Given the description of an element on the screen output the (x, y) to click on. 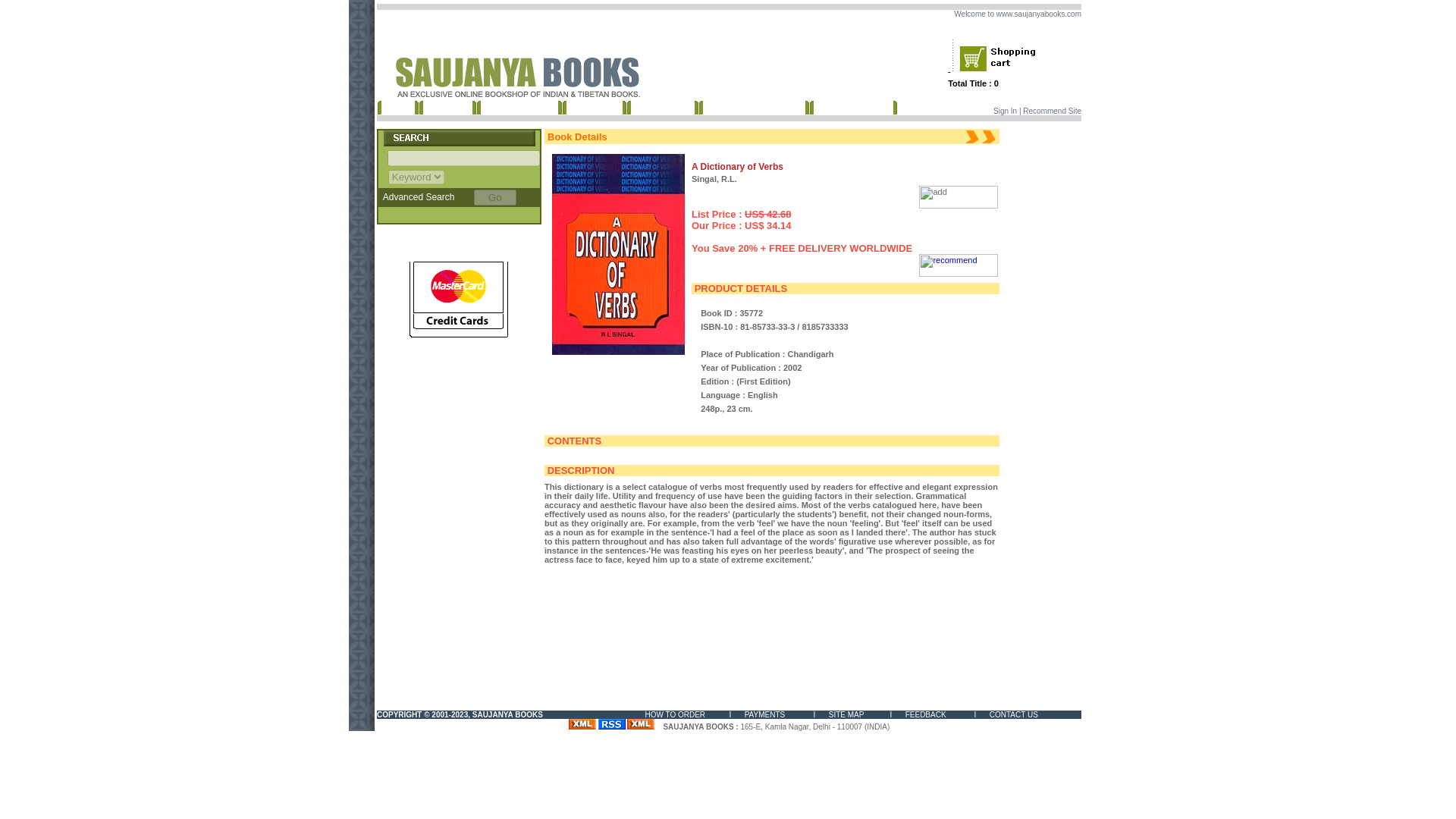
   Go    (495, 197)
Check List (593, 106)
RSS feed (612, 724)
FEEDBACK (925, 714)
   Go    (495, 197)
PAYMENTS (765, 714)
Sign In (1004, 111)
New Releases (518, 106)
Home (397, 106)
SITE MAP (846, 714)
